Given the description of an element on the screen output the (x, y) to click on. 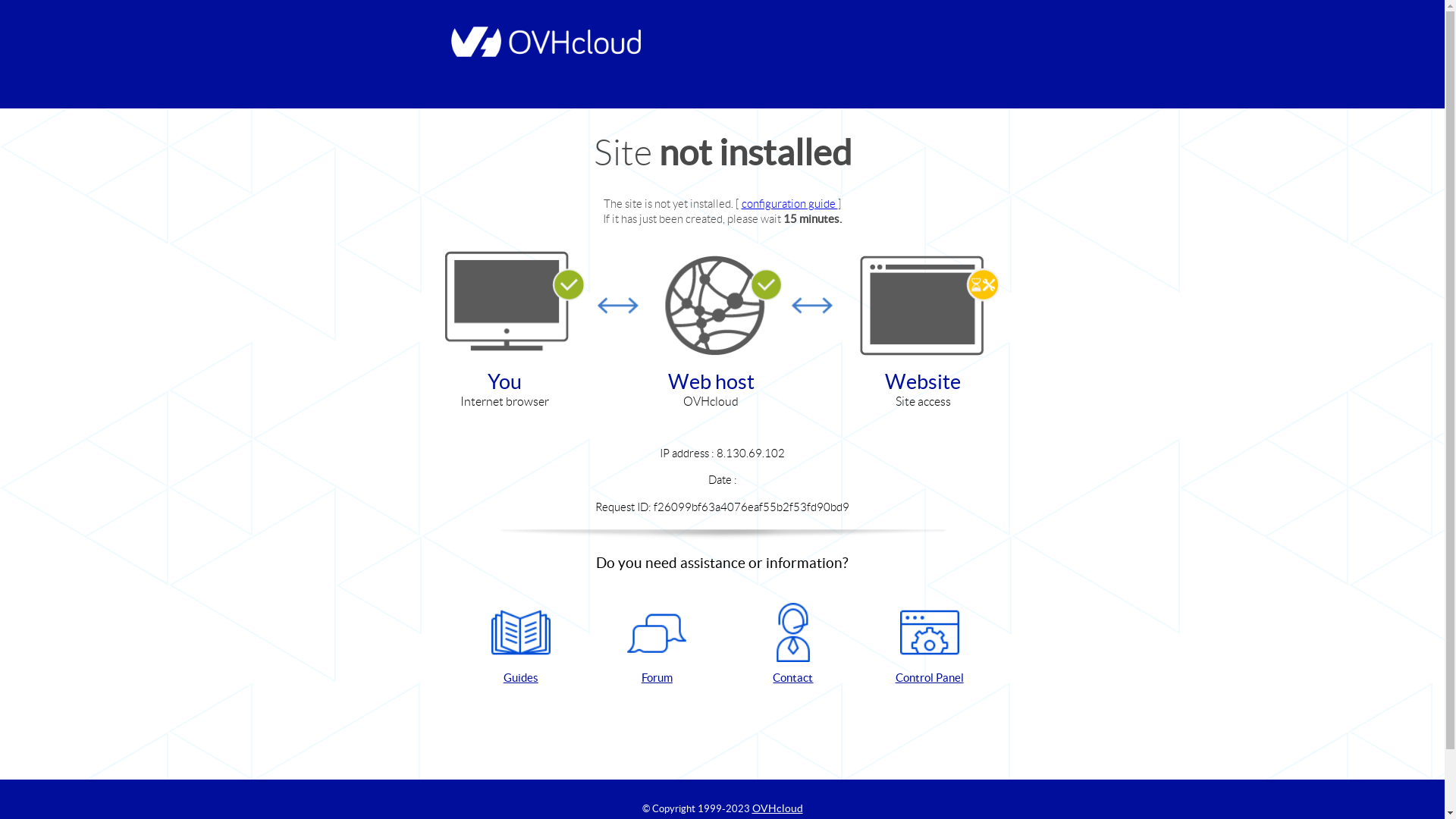
configuration guide Element type: text (789, 203)
Forum Element type: text (656, 644)
Contact Element type: text (792, 644)
Control Panel Element type: text (929, 644)
OVHcloud Element type: text (777, 808)
Guides Element type: text (520, 644)
